Given the description of an element on the screen output the (x, y) to click on. 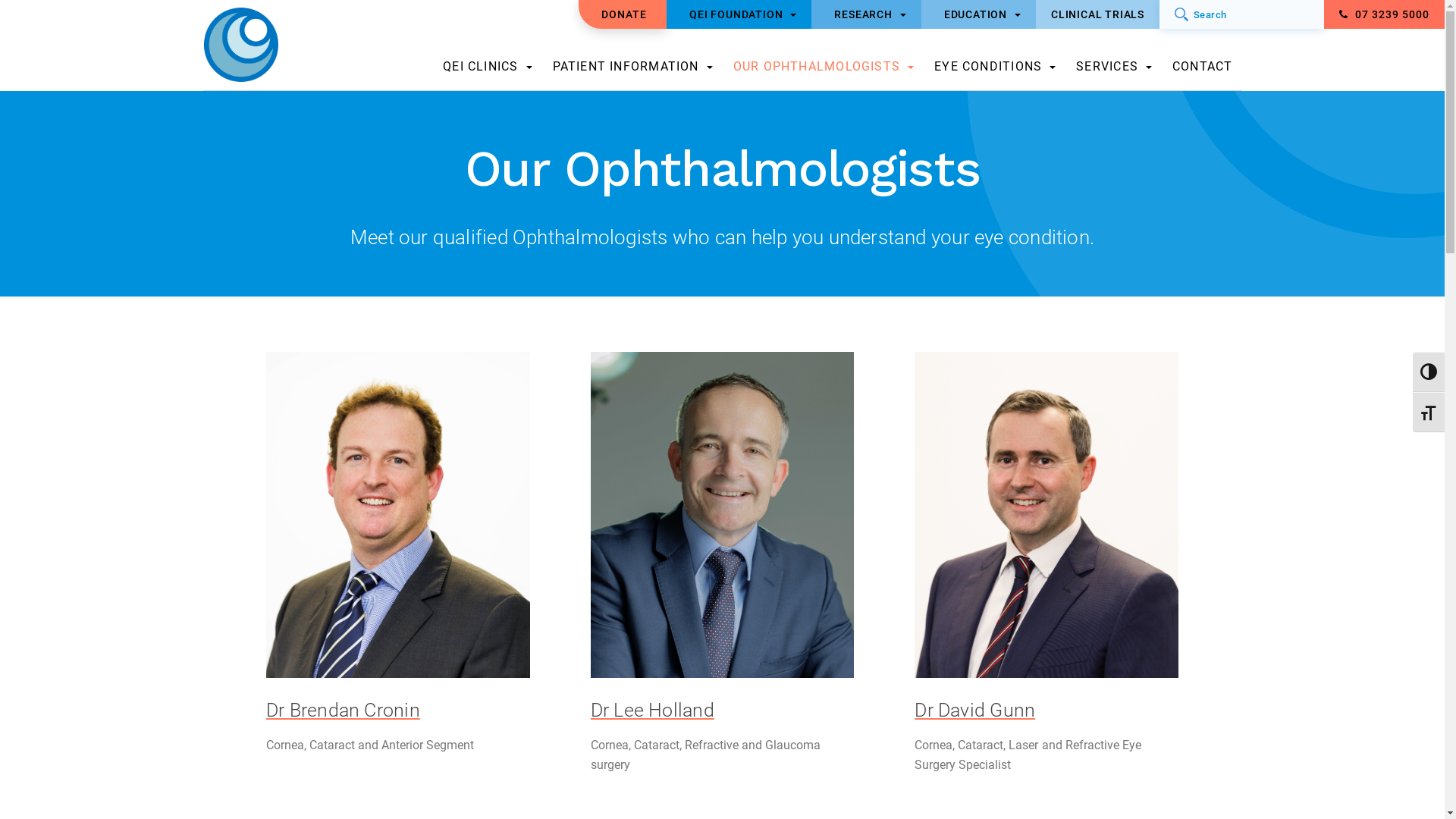
CLINICAL TRIALS Element type: text (1097, 14)
SERVICES Element type: text (1113, 70)
Toggle High Contrast Element type: text (1428, 371)
EYE CONDITIONS Element type: text (994, 70)
Toggle Font size Element type: text (1428, 412)
DONATE Element type: text (623, 14)
07 3239 5000 Element type: text (1384, 14)
QEI CLINICS Element type: text (486, 70)
Go Element type: text (1181, 14)
CONTACT Element type: text (1202, 70)
OUR OPHTHALMOLOGISTS Element type: text (823, 70)
Dr Brendan Cronin Element type: text (398, 709)
Dr Lee Holland Element type: text (722, 709)
Dr David Gunn Element type: text (1046, 709)
PATIENT INFORMATION Element type: text (631, 70)
